Given the description of an element on the screen output the (x, y) to click on. 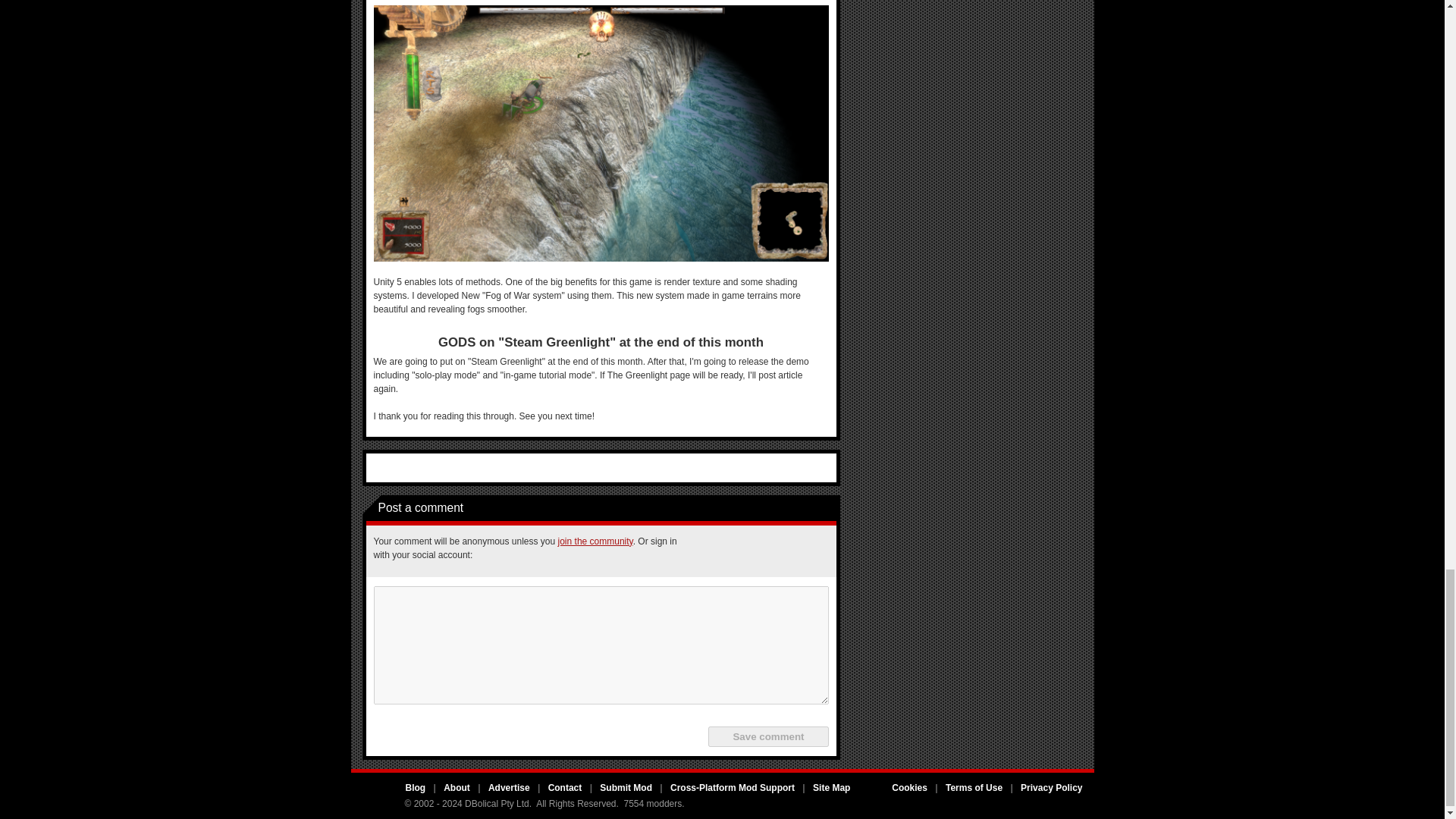
Click to connect via Steam (812, 551)
New Fow - Indie DB (600, 132)
Click to connect via Twitter (739, 551)
Save comment (767, 735)
Click to connect via Google (776, 551)
